Given the description of an element on the screen output the (x, y) to click on. 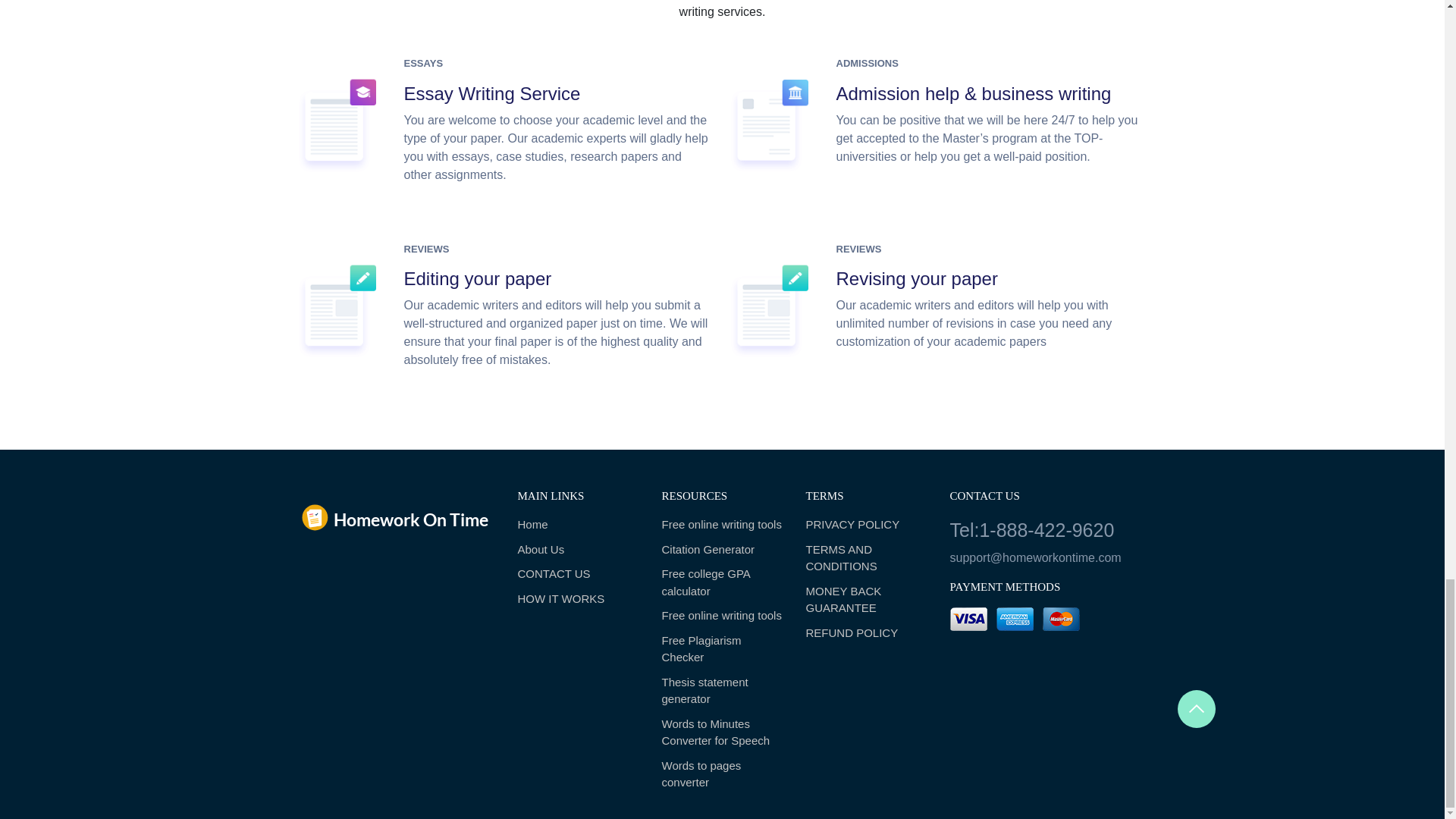
Free Plagiarism Checker (722, 649)
About Us (577, 549)
Free online writing tools (722, 524)
CONTACT US (577, 574)
REFUND POLICY (865, 633)
PRIVACY POLICY (865, 524)
Free online writing tools (722, 615)
MONEY BACK GUARANTEE (865, 600)
Words to Minutes Converter for Speech (722, 732)
HOW IT WORKS (577, 599)
